Given the description of an element on the screen output the (x, y) to click on. 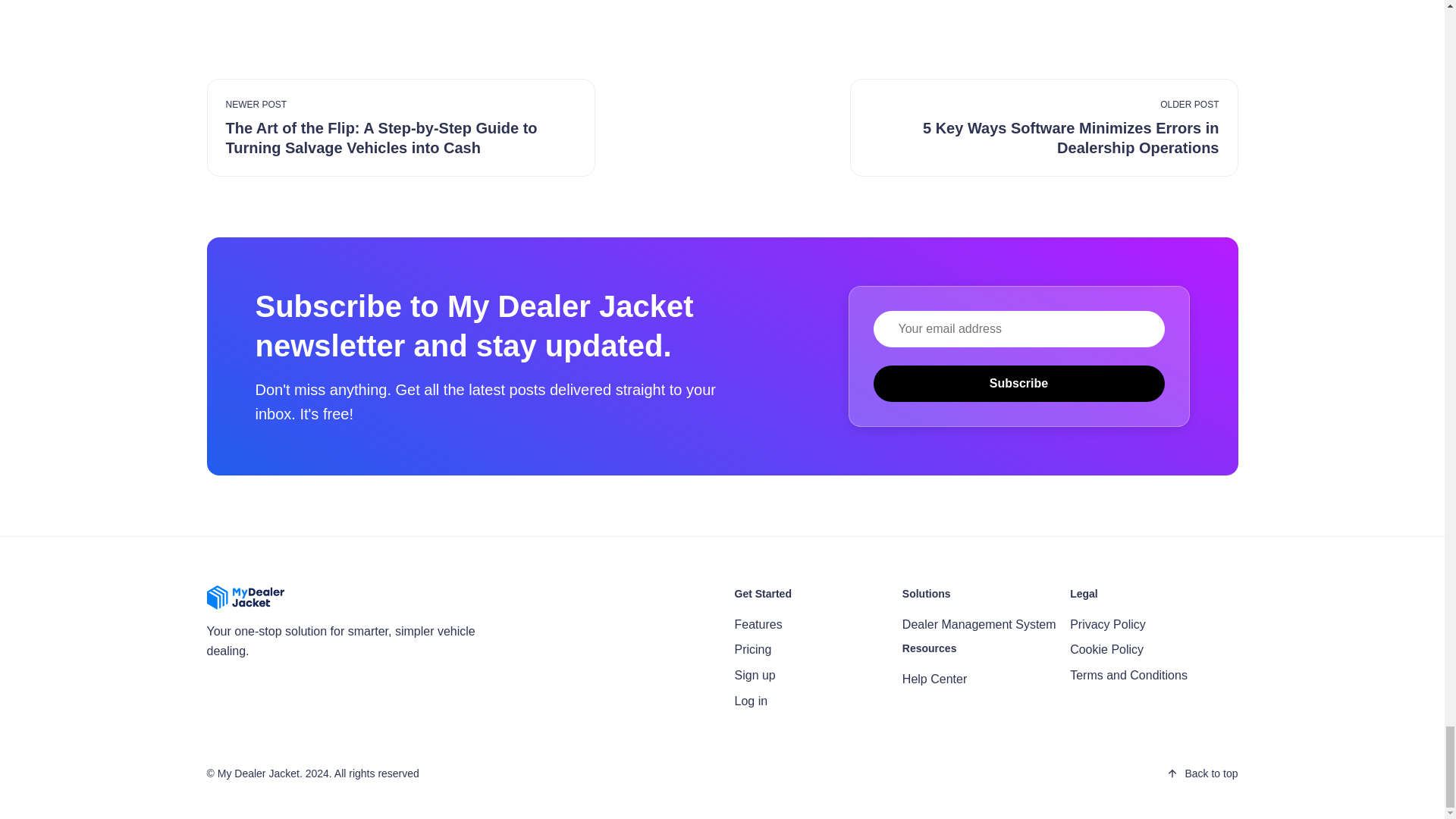
Cookie Policy  (1106, 649)
Privacy Policy  (1107, 624)
Back to top (1201, 773)
Terms and Conditions  (1129, 675)
